Given the description of an element on the screen output the (x, y) to click on. 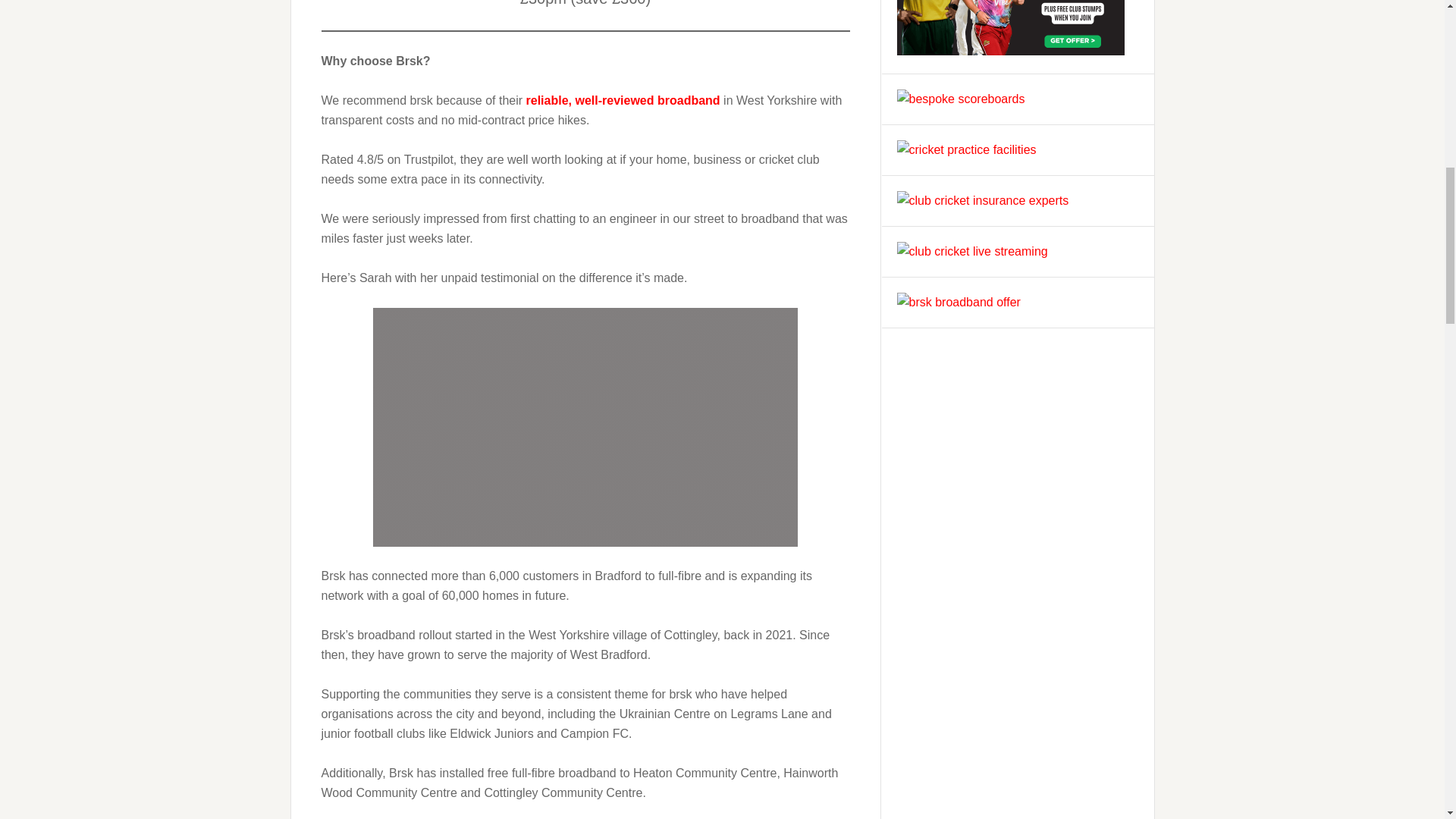
reliable, well-reviewed broadband (622, 100)
